Given the description of an element on the screen output the (x, y) to click on. 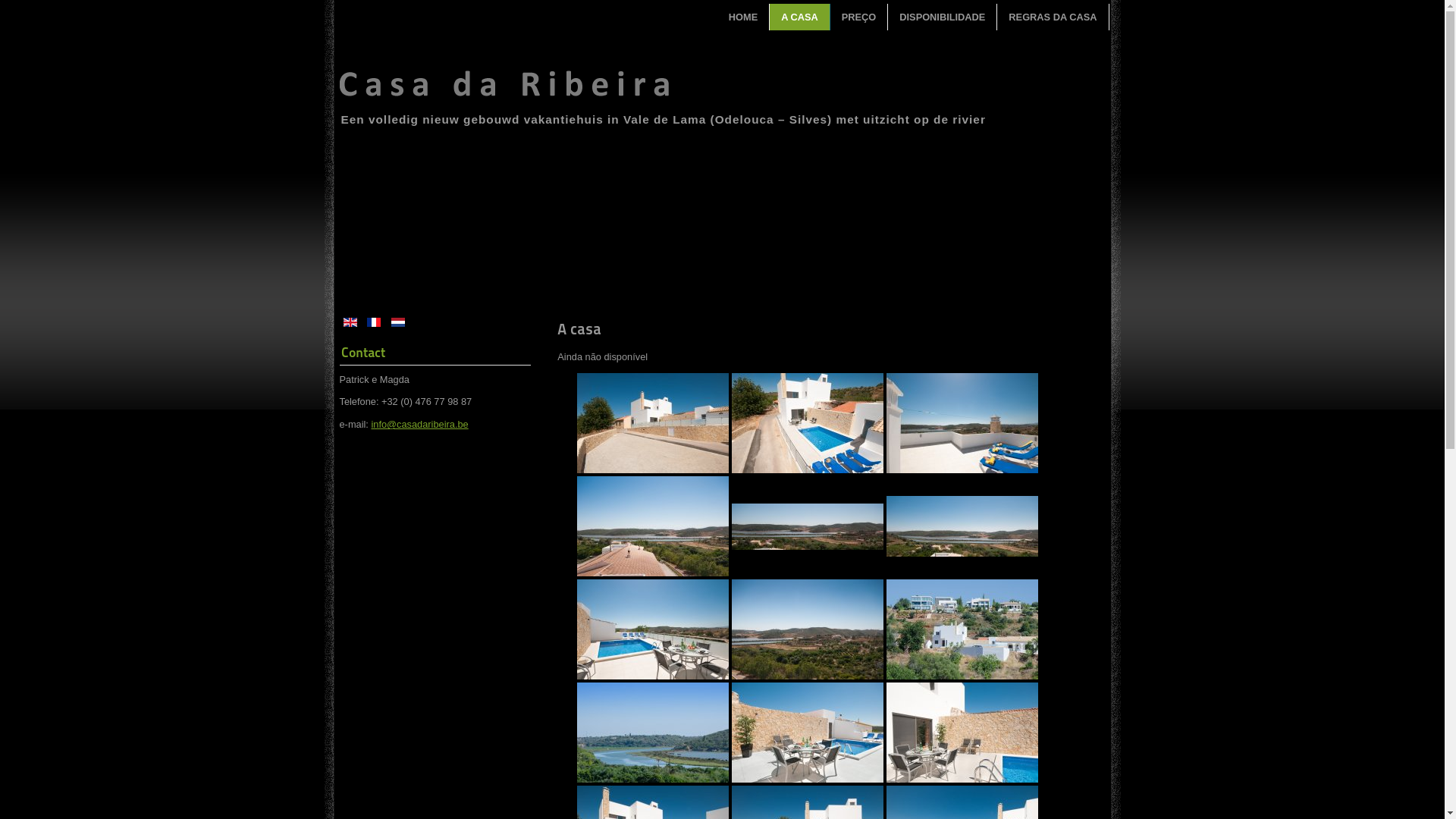
REGRAS DA CASA Element type: text (1052, 16)
info@casadaribeira.be Element type: text (418, 423)
A CASA Element type: text (799, 16)
DISPONIBILIDADE Element type: text (942, 16)
Nederlands (NL) Element type: hover (397, 321)
A casa Element type: text (579, 329)
English (GB) Element type: hover (349, 321)
HOME Element type: text (743, 16)
